Given the description of an element on the screen output the (x, y) to click on. 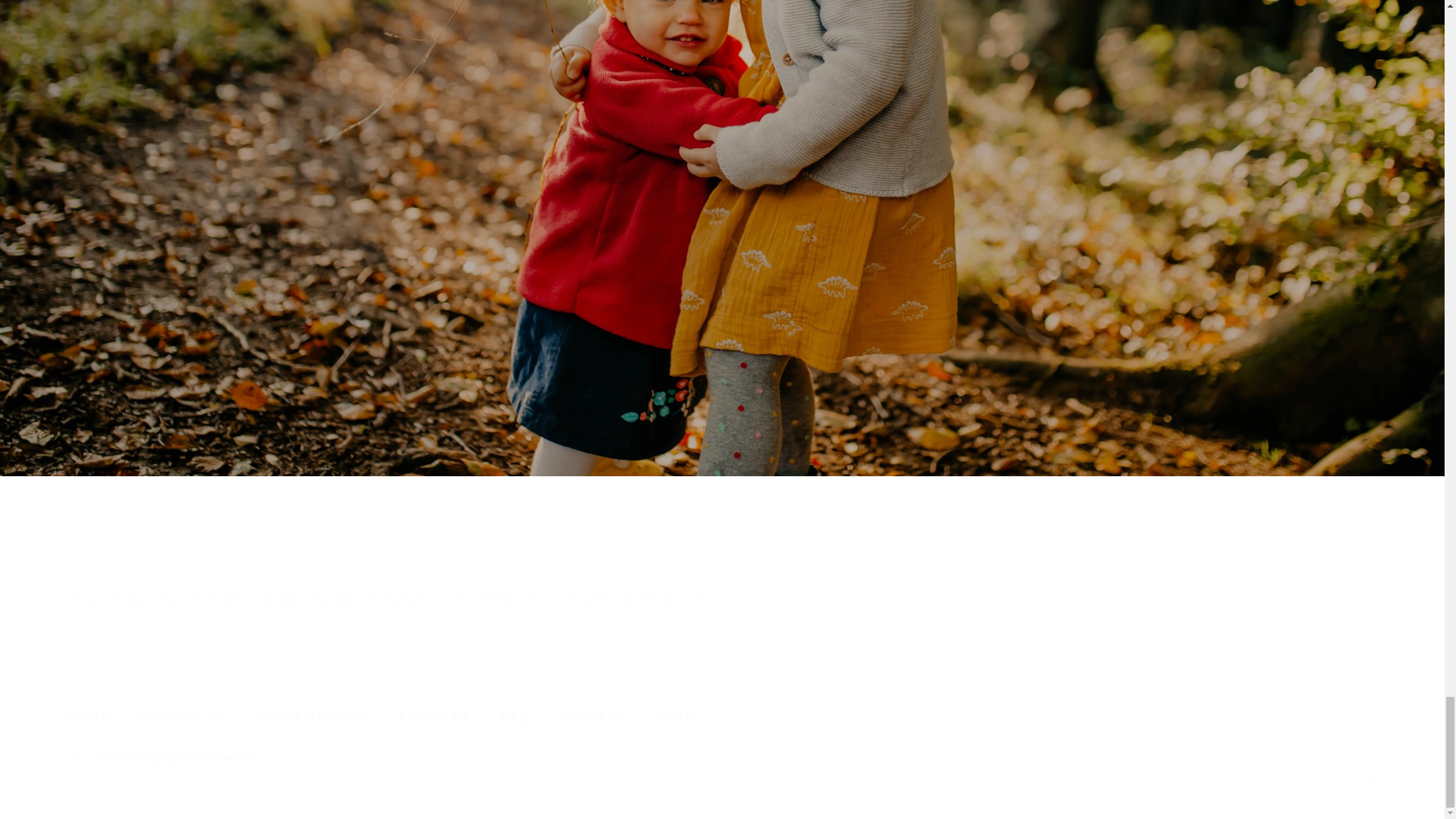
FAQ (515, 718)
PORTFOLIO (181, 718)
HOME (90, 718)
ABOUT ME (435, 718)
GET IN TOUCH (722, 165)
